Given the description of an element on the screen output the (x, y) to click on. 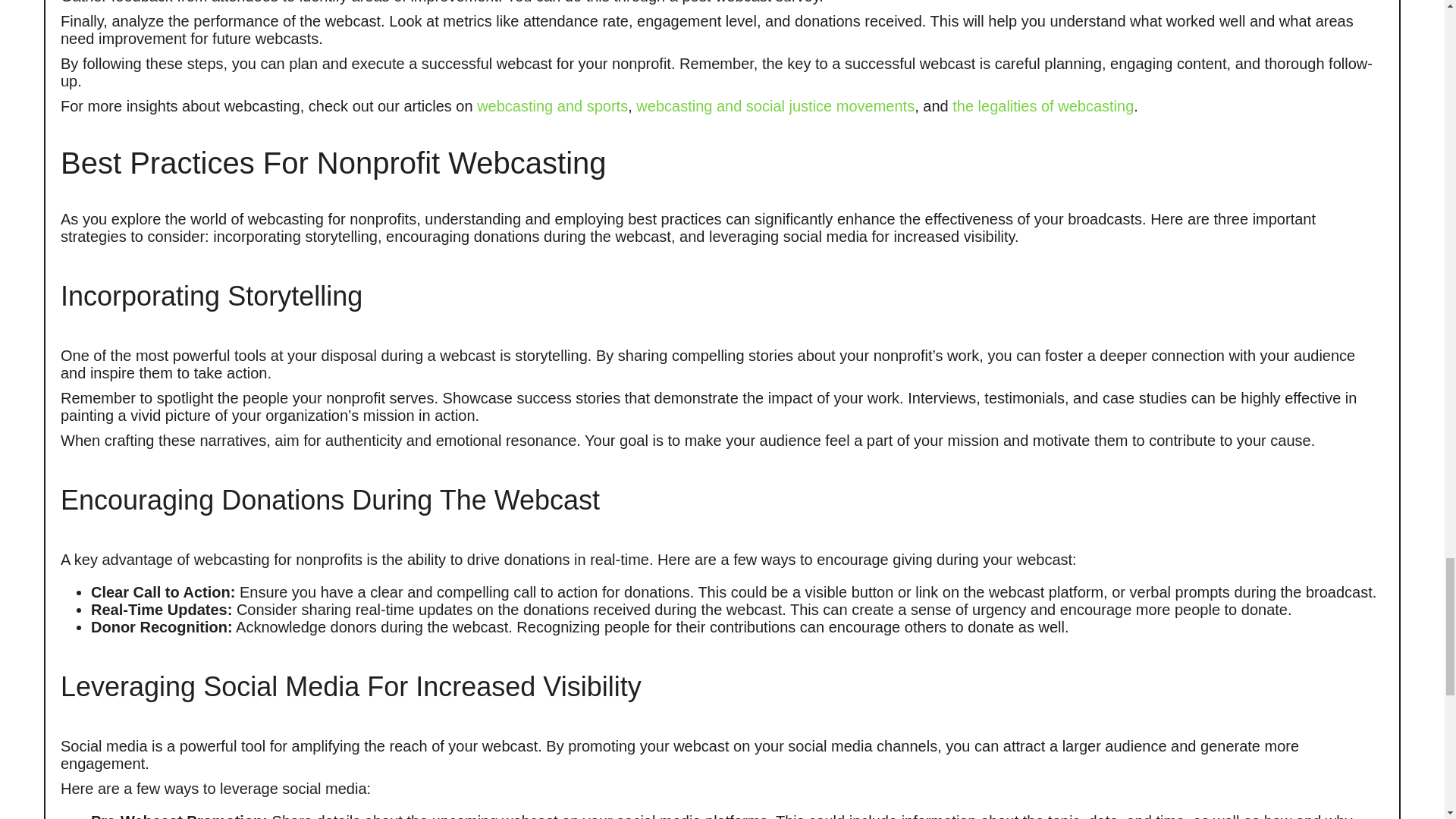
webcasting and sports (552, 105)
webcasting and social justice movements (775, 105)
the legalities of webcasting (1043, 105)
